Given the description of an element on the screen output the (x, y) to click on. 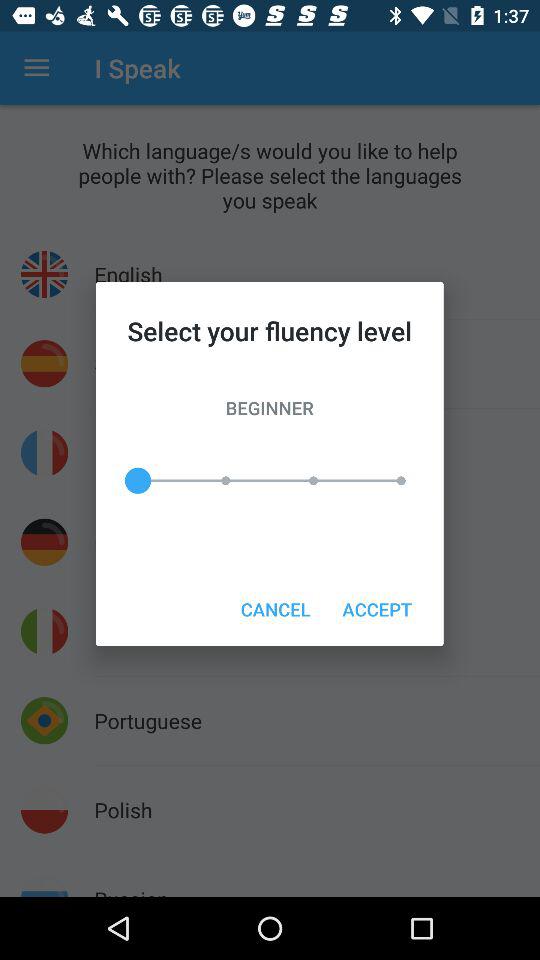
scroll until accept (376, 608)
